Given the description of an element on the screen output the (x, y) to click on. 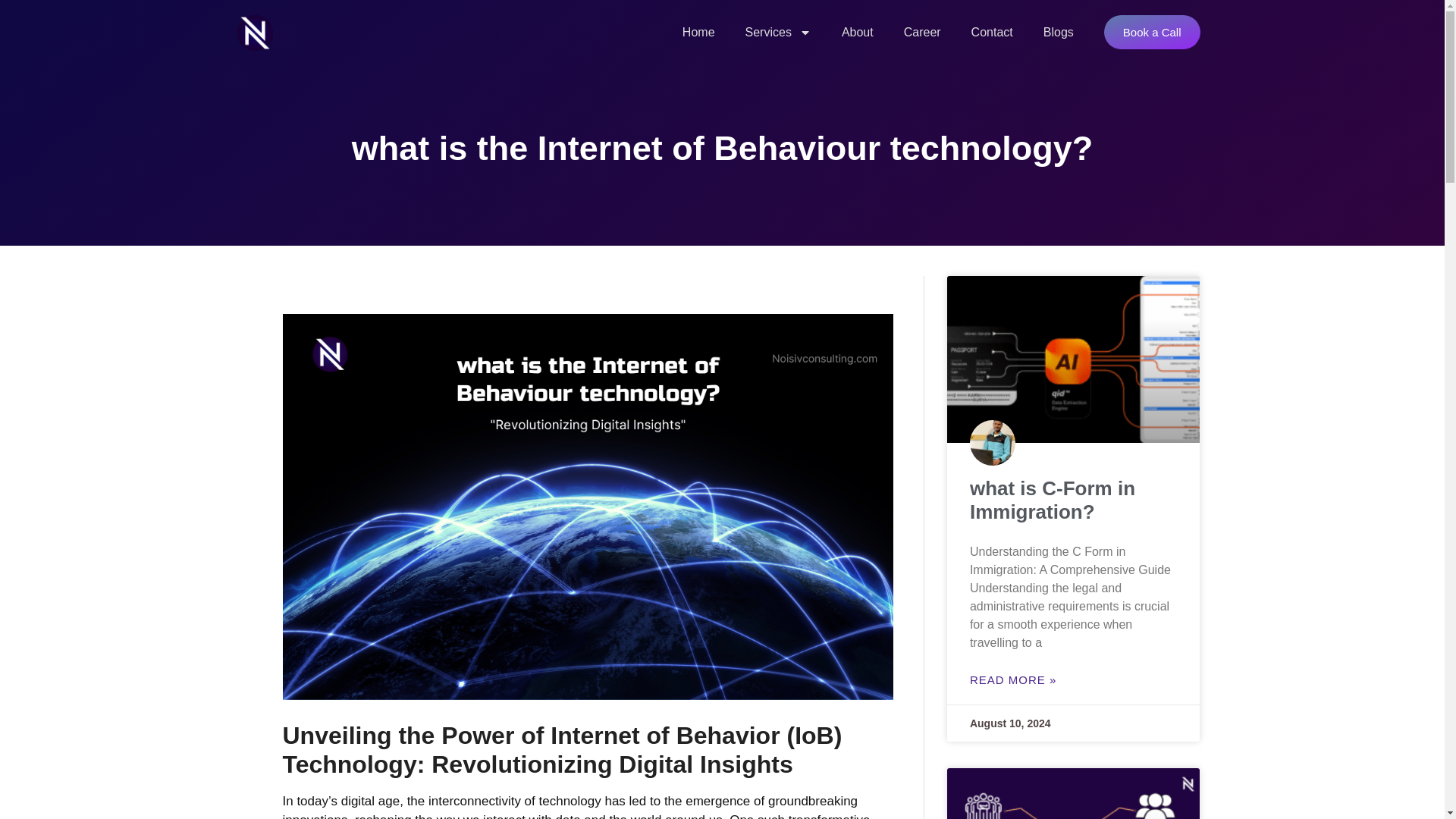
About (857, 32)
Blogs (1058, 32)
Career (922, 32)
Services (778, 32)
Home (698, 32)
Contact (991, 32)
